Given the description of an element on the screen output the (x, y) to click on. 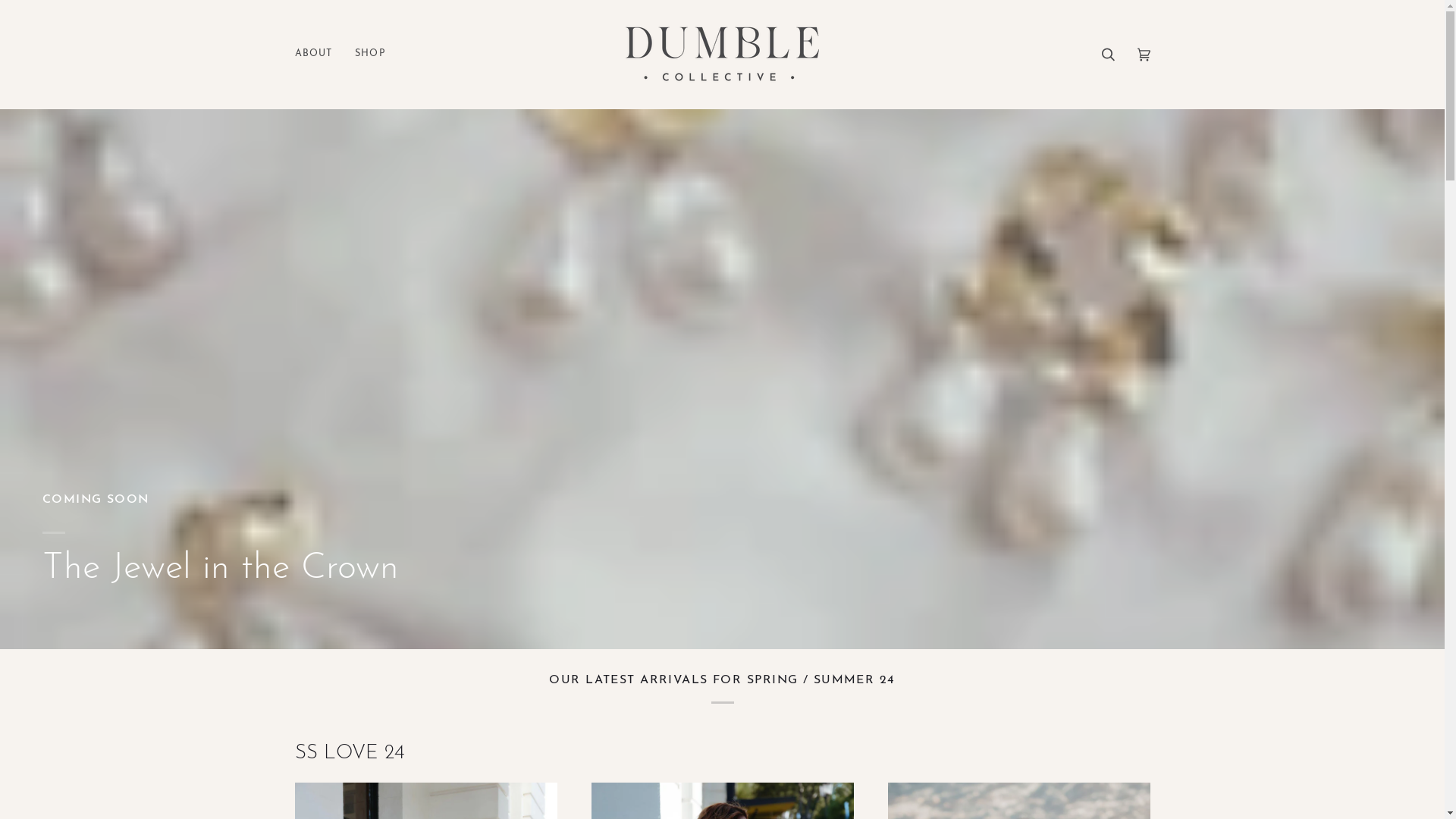
SHOP Element type: text (370, 54)
SS LOVE 24 Element type: text (348, 753)
Cart
(0) Element type: text (1143, 54)
ABOUT Element type: text (318, 54)
Search Element type: text (1108, 54)
